Given the description of an element on the screen output the (x, y) to click on. 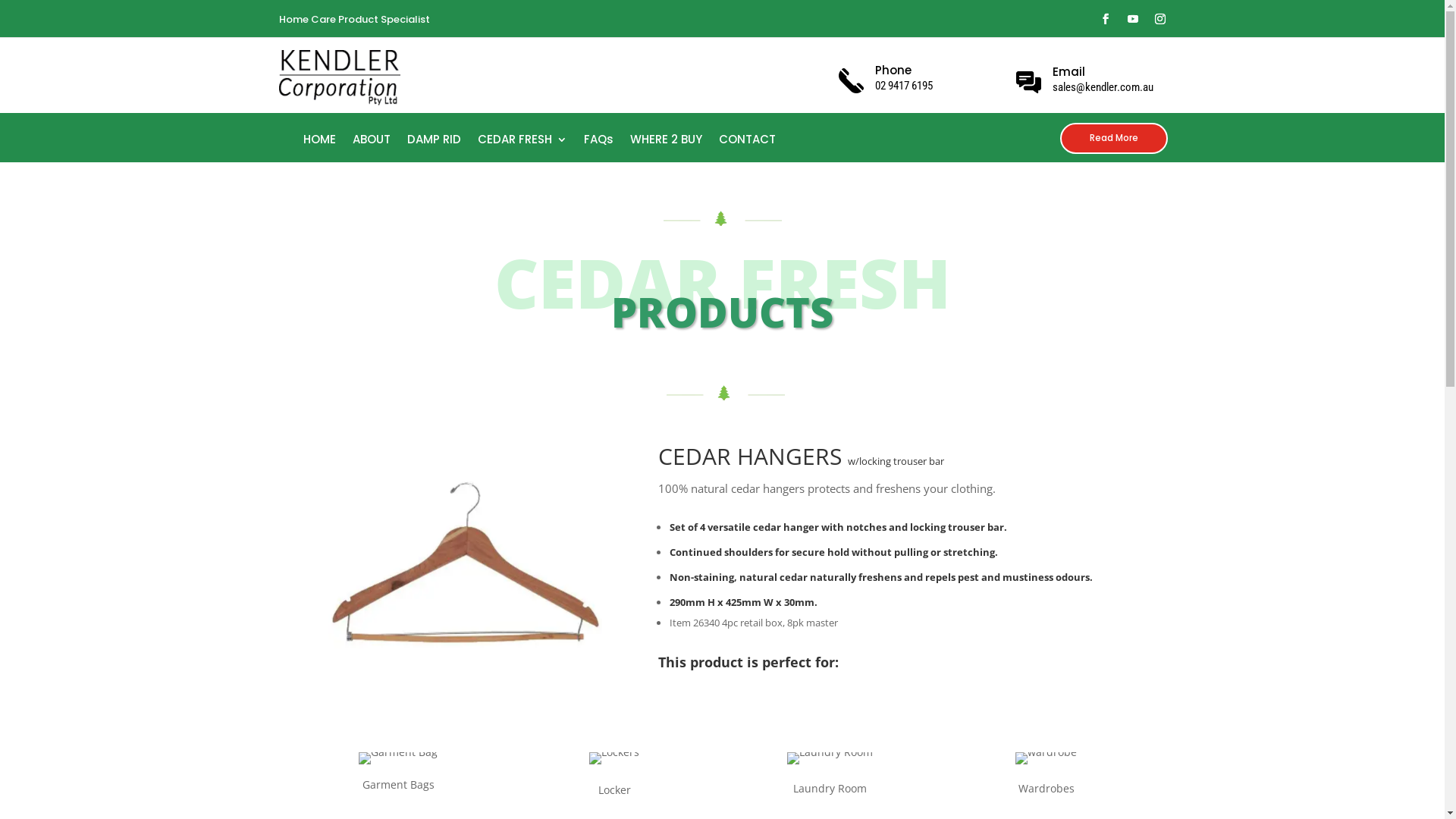
Read More Element type: text (1113, 137)
Follow on Youtube Element type: hover (1132, 18)
Follow on Facebook Element type: hover (1105, 18)
HOME Element type: text (319, 142)
WHERE 2 BUY Element type: text (666, 142)
CF.locker Element type: hover (614, 758)
PineLine Element type: hover (722, 218)
CF.laundry Element type: hover (829, 758)
KENDLER-LOGO-TRANSPARENT-BLACK Element type: hover (339, 77)
CEDAR FRESH Element type: text (522, 142)
FAQs Element type: text (598, 142)
CONTACT Element type: text (746, 142)
cedar Hanger Element type: hover (465, 574)
Follow on Instagram Element type: hover (1159, 18)
PineLine Element type: hover (725, 392)
CF.wardrobe Element type: hover (1045, 758)
ABOUT Element type: text (371, 142)
DAMP RID Element type: text (434, 142)
CF.Icons Element type: hover (397, 758)
